Given the description of an element on the screen output the (x, y) to click on. 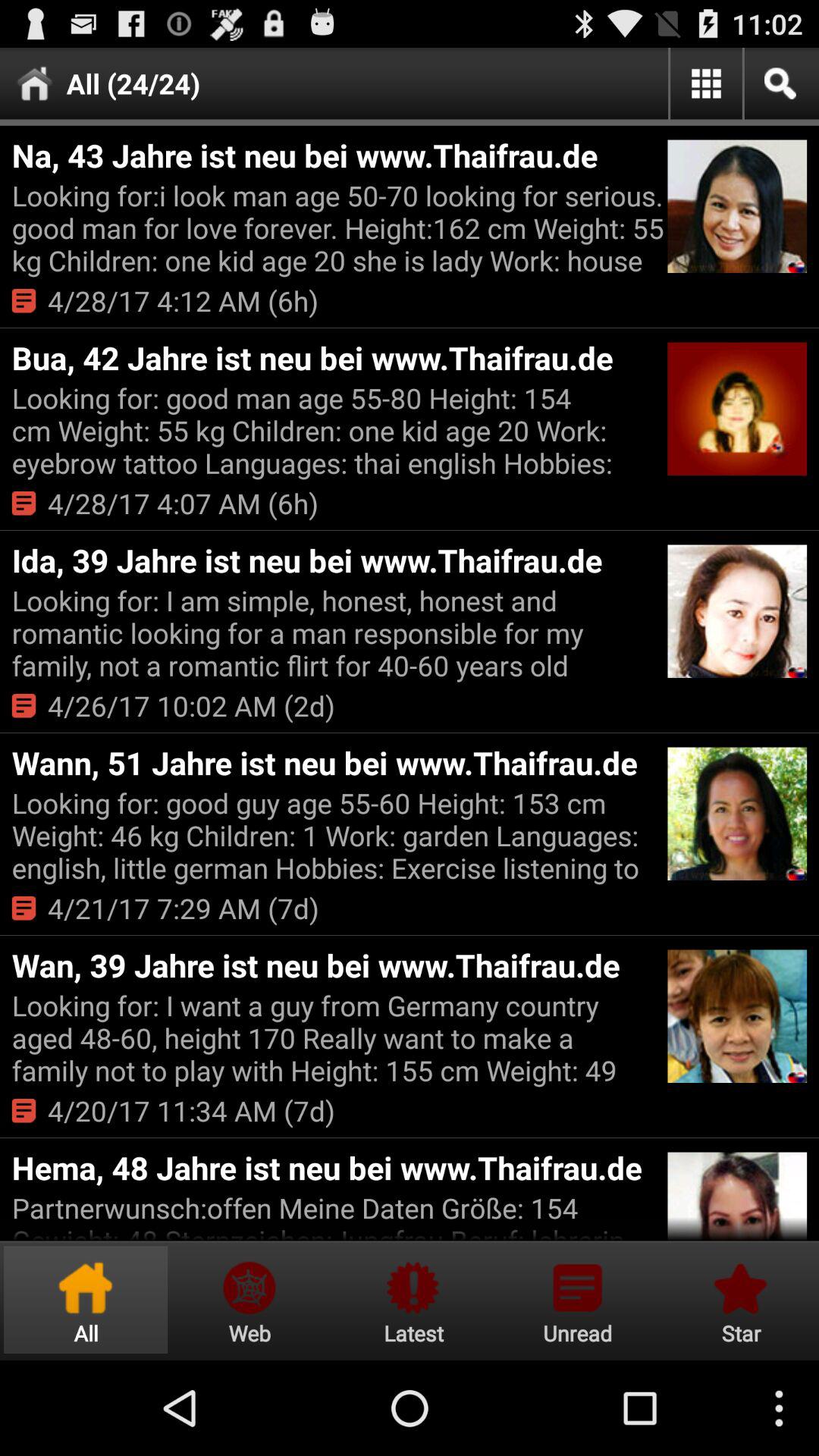
web page (249, 1299)
